Given the description of an element on the screen output the (x, y) to click on. 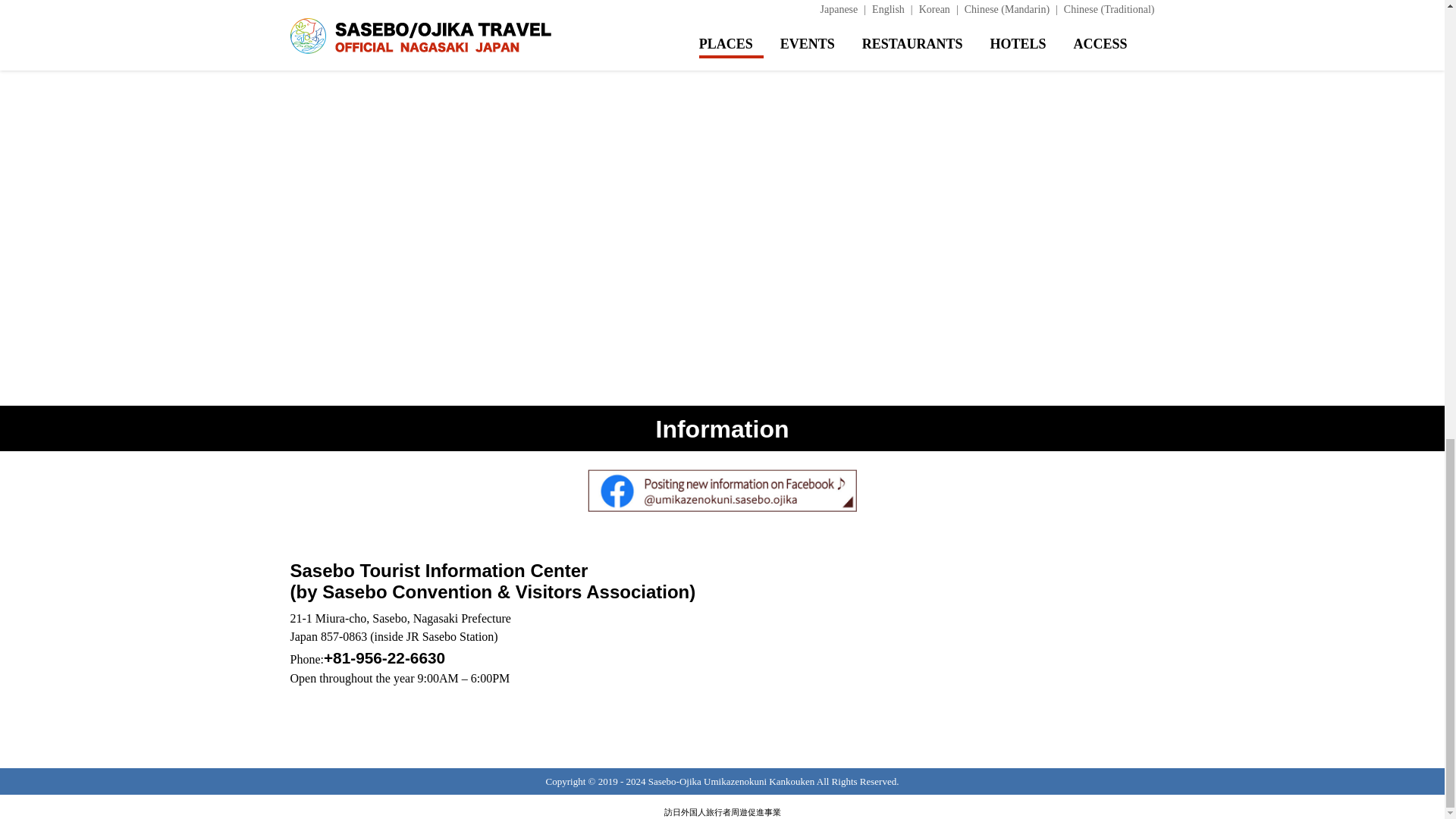
Information (722, 429)
